Given the description of an element on the screen output the (x, y) to click on. 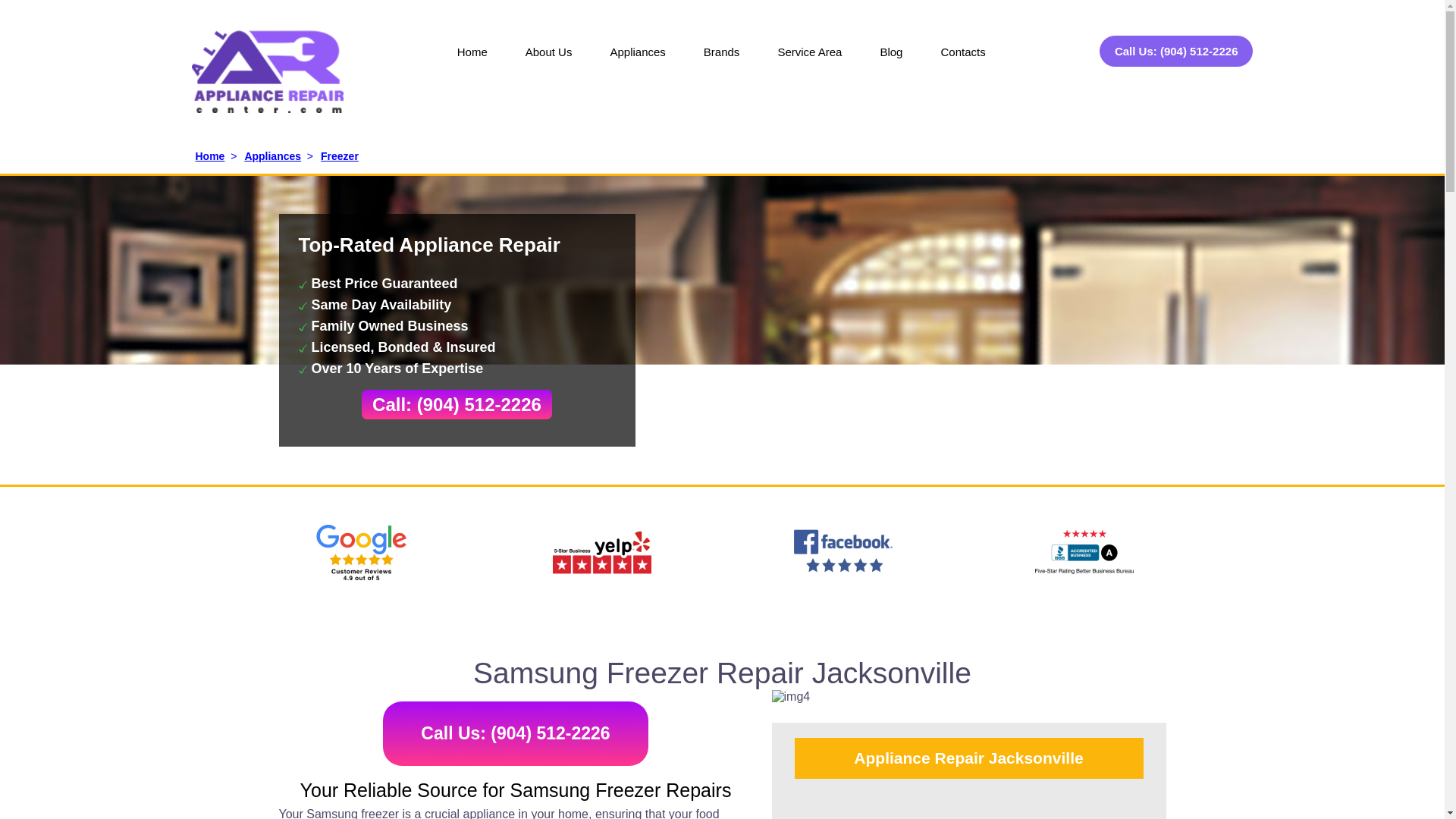
Appliances (637, 62)
Brands (721, 62)
About Us (548, 62)
Home (472, 62)
